Given the description of an element on the screen output the (x, y) to click on. 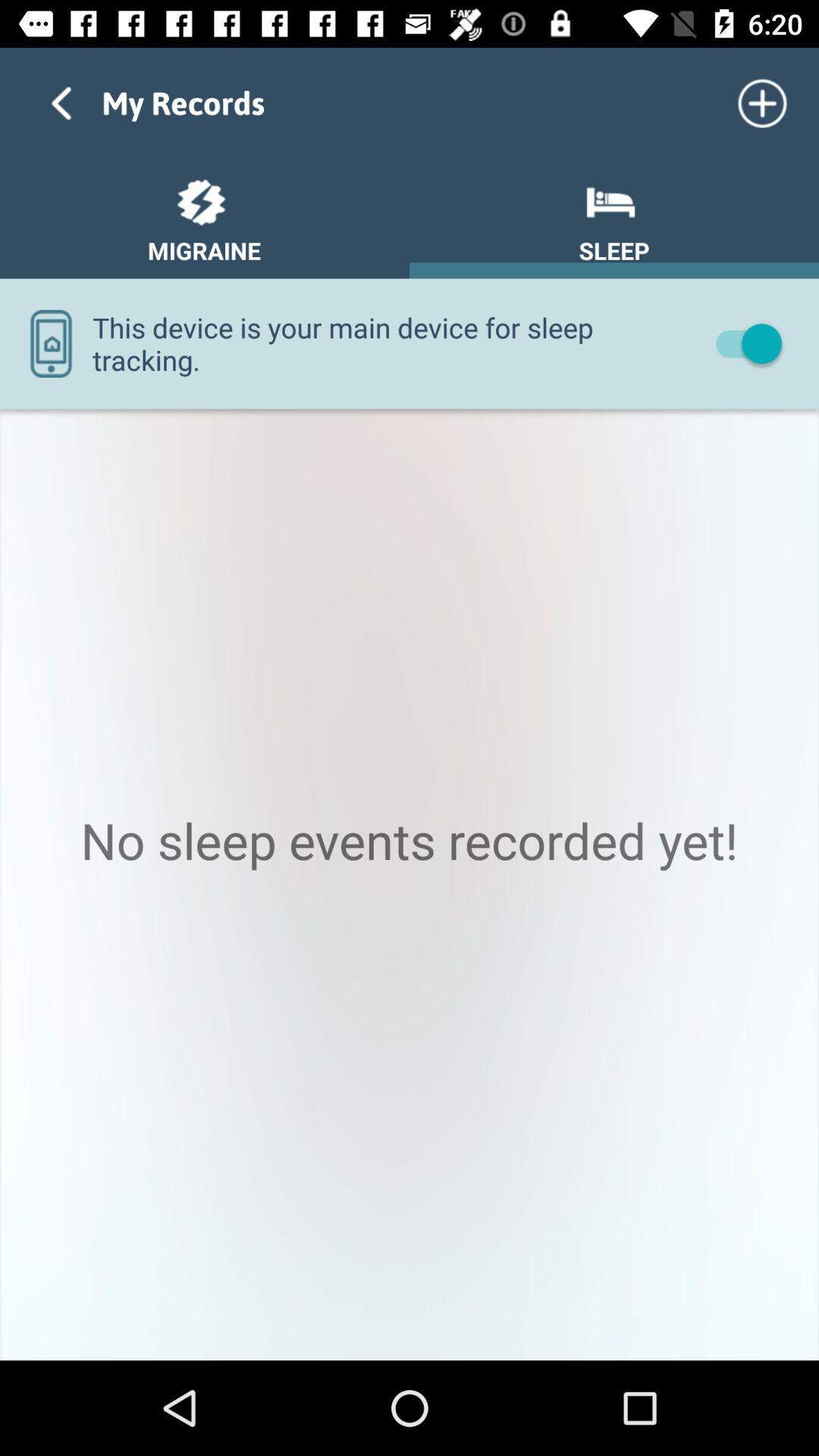
launch icon at the center (409, 884)
